Given the description of an element on the screen output the (x, y) to click on. 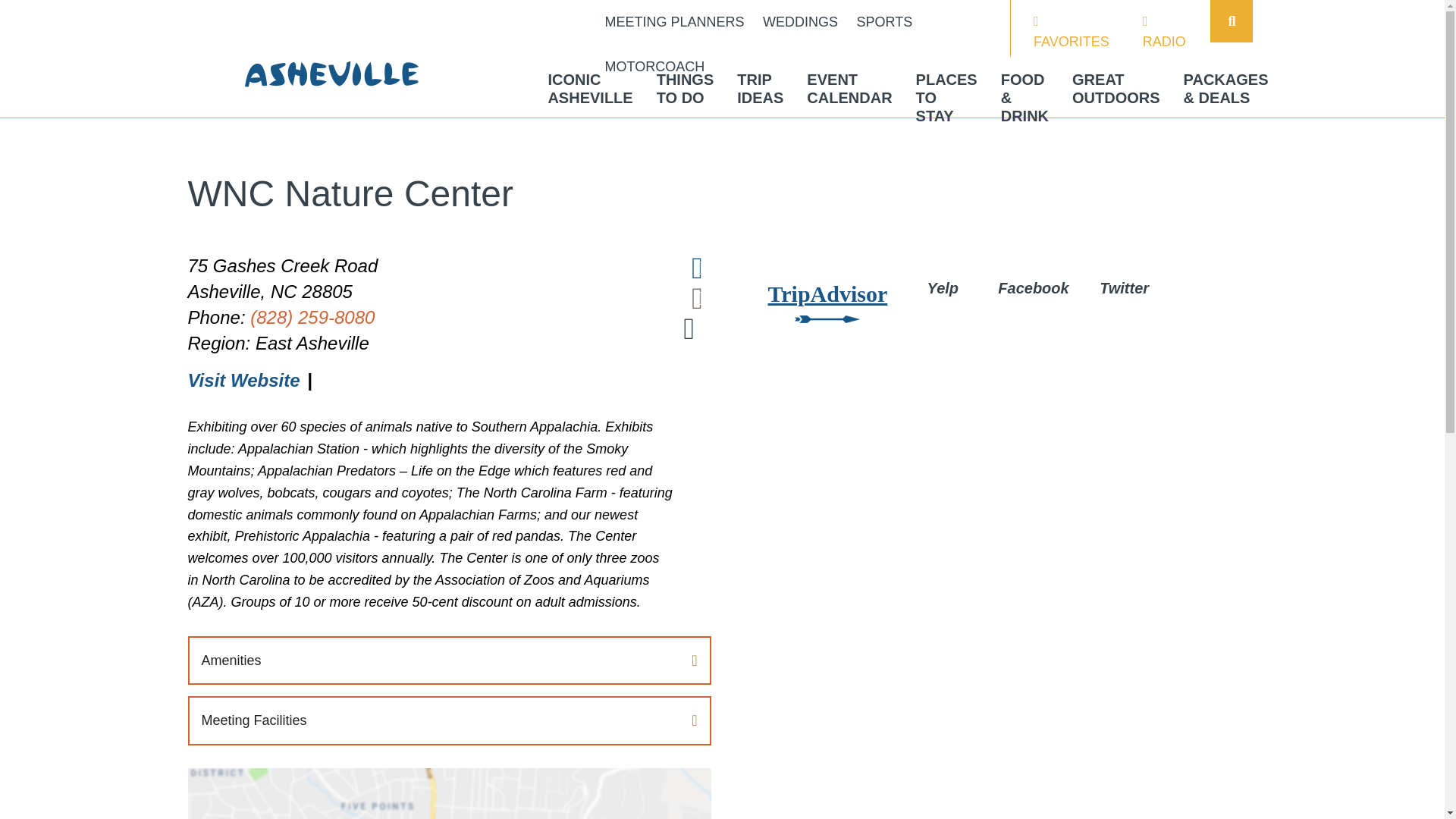
FAVORITES (1073, 31)
Motorcoach (589, 88)
Meeting Planners (654, 67)
SPORTS (674, 22)
Iconic Asheville (884, 22)
RADIO (589, 88)
Sports (1167, 31)
MOTORCOACH (884, 22)
WEDDINGS (654, 67)
